Given the description of an element on the screen output the (x, y) to click on. 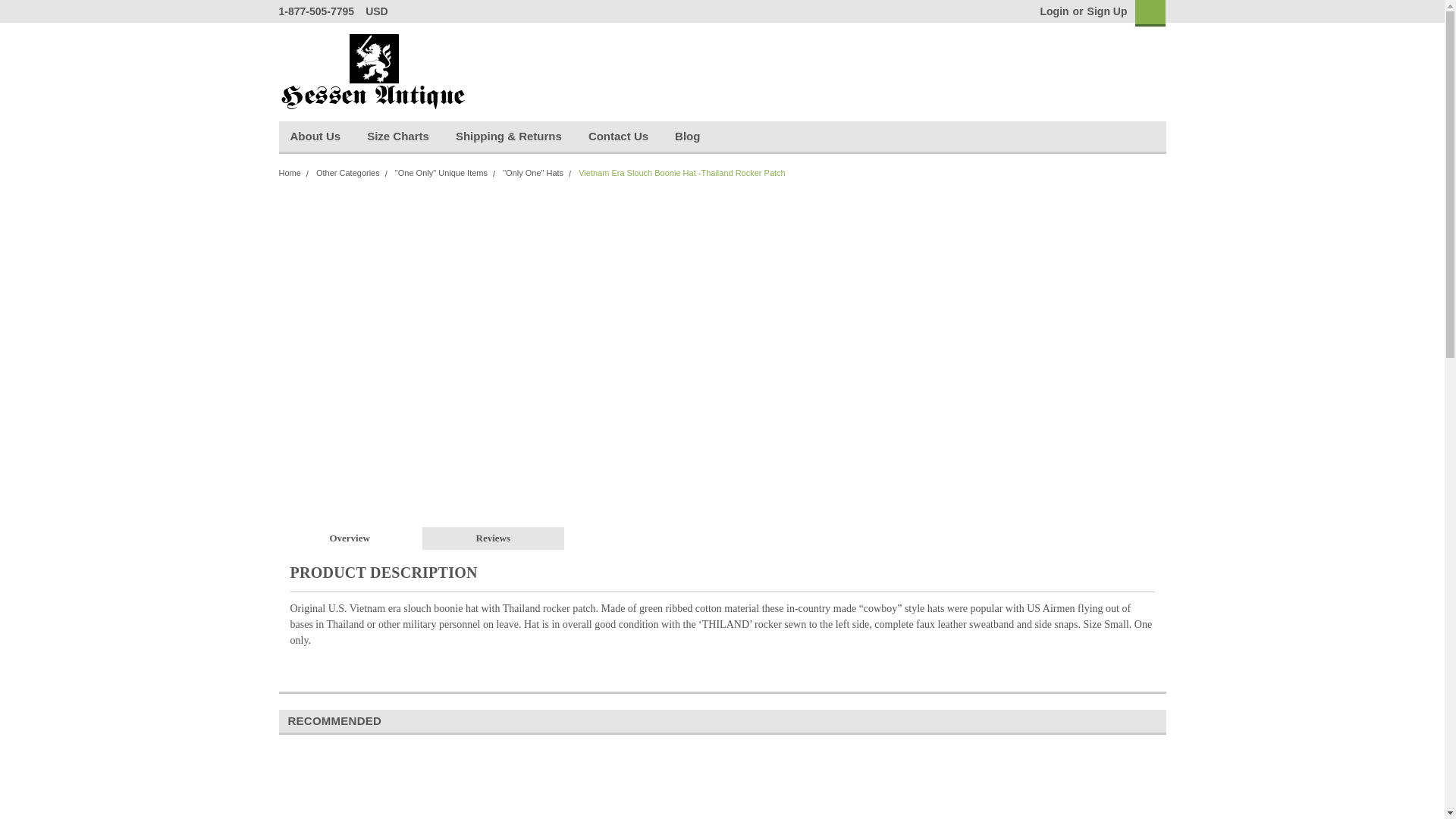
Currency Selector (381, 11)
Sign Up (1104, 11)
Login (1054, 11)
Hessen Antique (373, 71)
USD (381, 11)
